Given the description of an element on the screen output the (x, y) to click on. 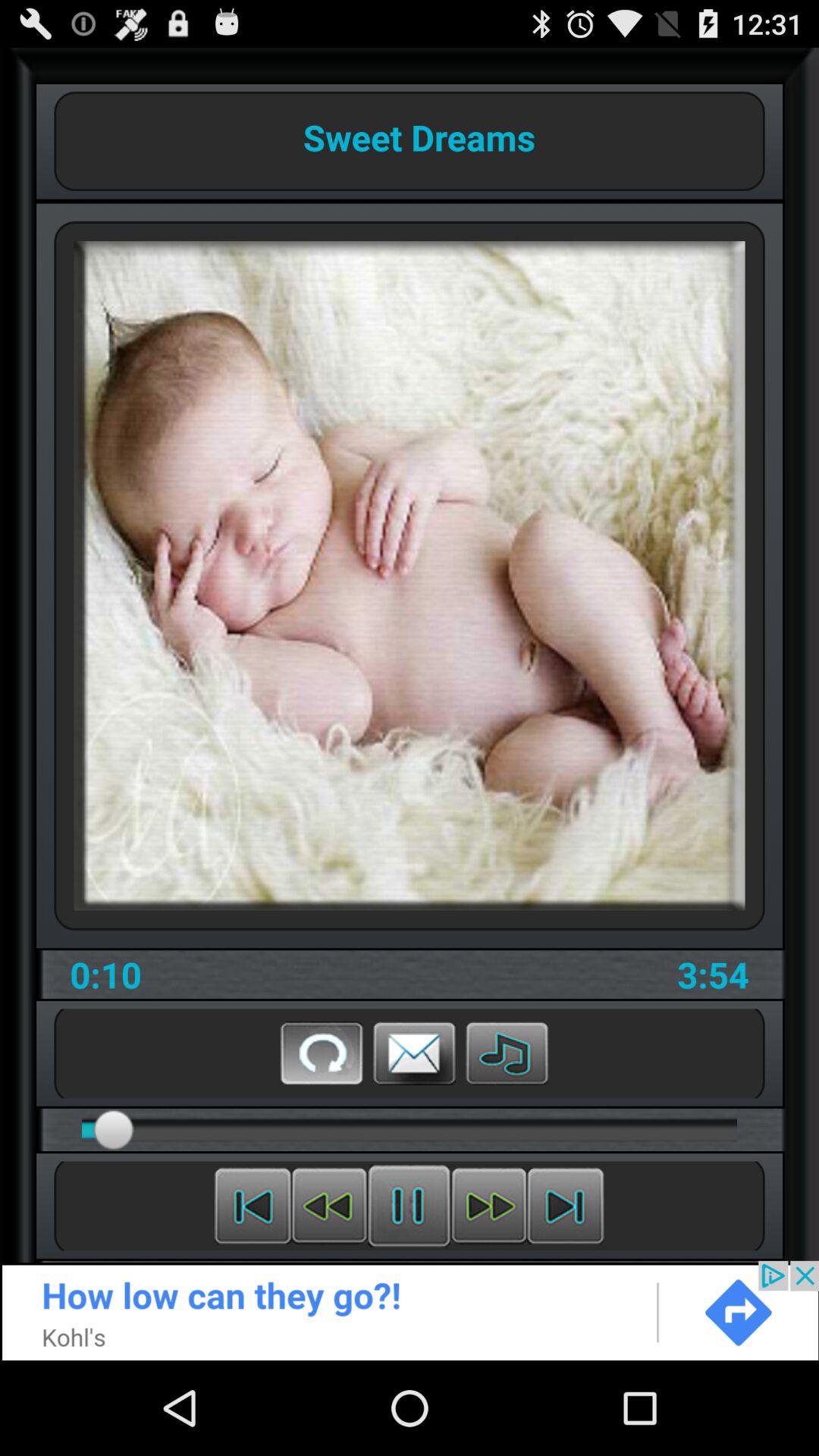
pause (408, 1205)
